Given the description of an element on the screen output the (x, y) to click on. 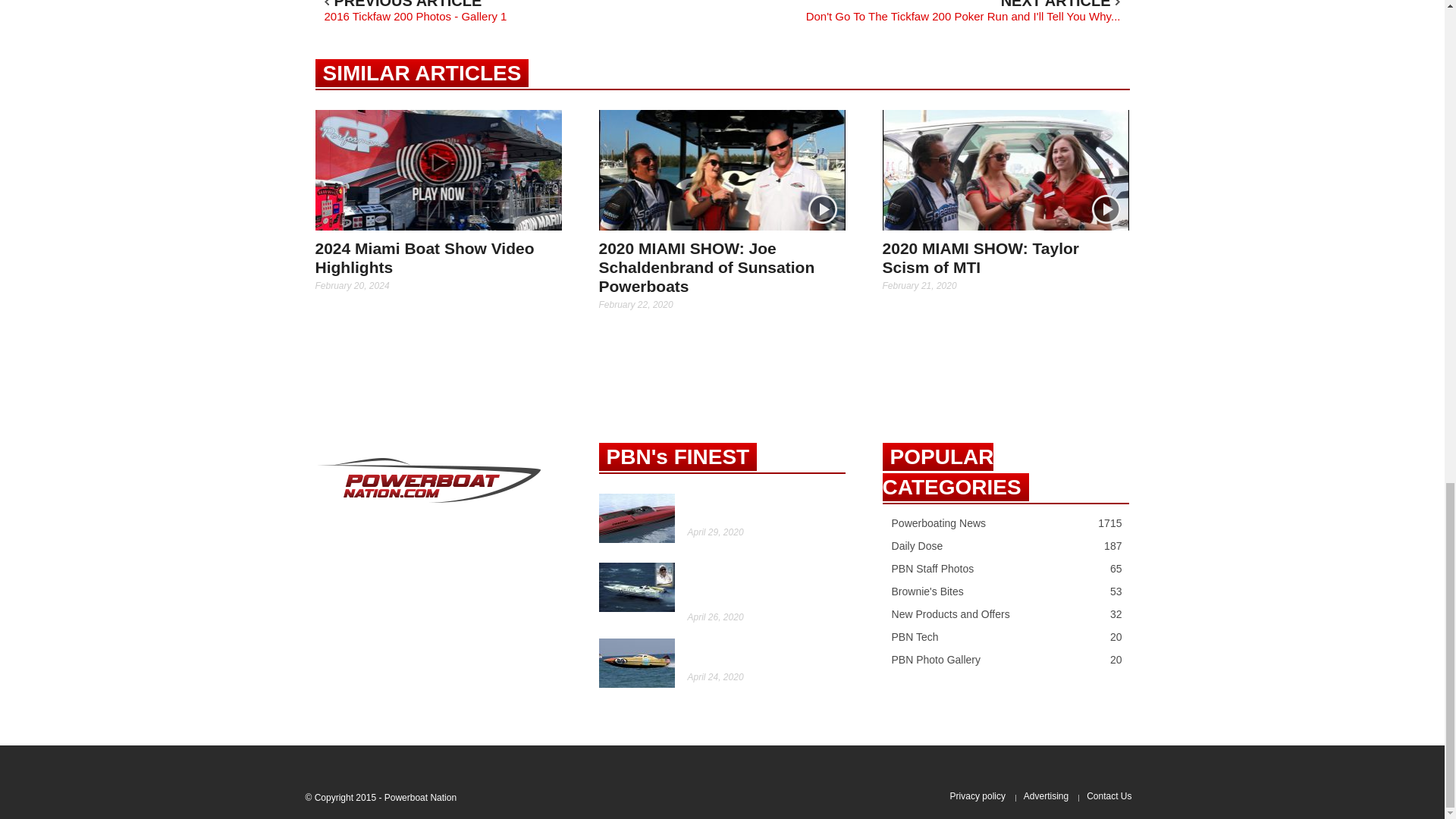
2020 MIAMI SHOW: Joe Schaldenbrand of Sunsation Powerboats (721, 169)
2020 MIAMI SHOW: Joe Schaldenbrand of Sunsation Powerboats (721, 168)
2024 Miami Boat Show Video Highlights (438, 169)
2024 Miami Boat Show Video Highlights (438, 168)
2020 MIAMI SHOW: Taylor Scism of MTI (1005, 168)
2024 Miami Boat Show Video Highlights (424, 257)
2020 MIAMI SHOW: Joe Schaldenbrand of Sunsation Powerboats (706, 266)
